Given the description of an element on the screen output the (x, y) to click on. 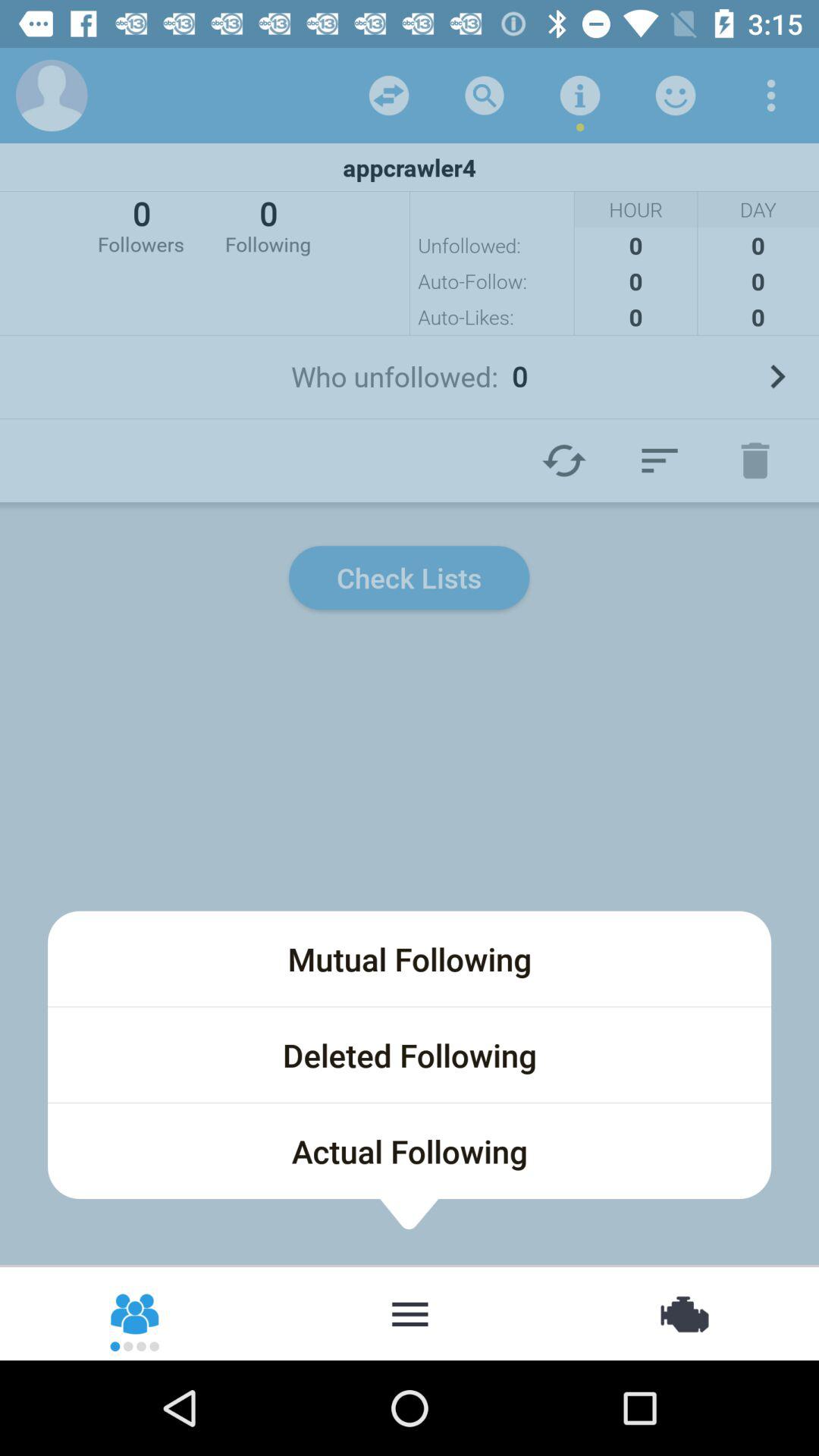
delete the follower (755, 460)
